Given the description of an element on the screen output the (x, y) to click on. 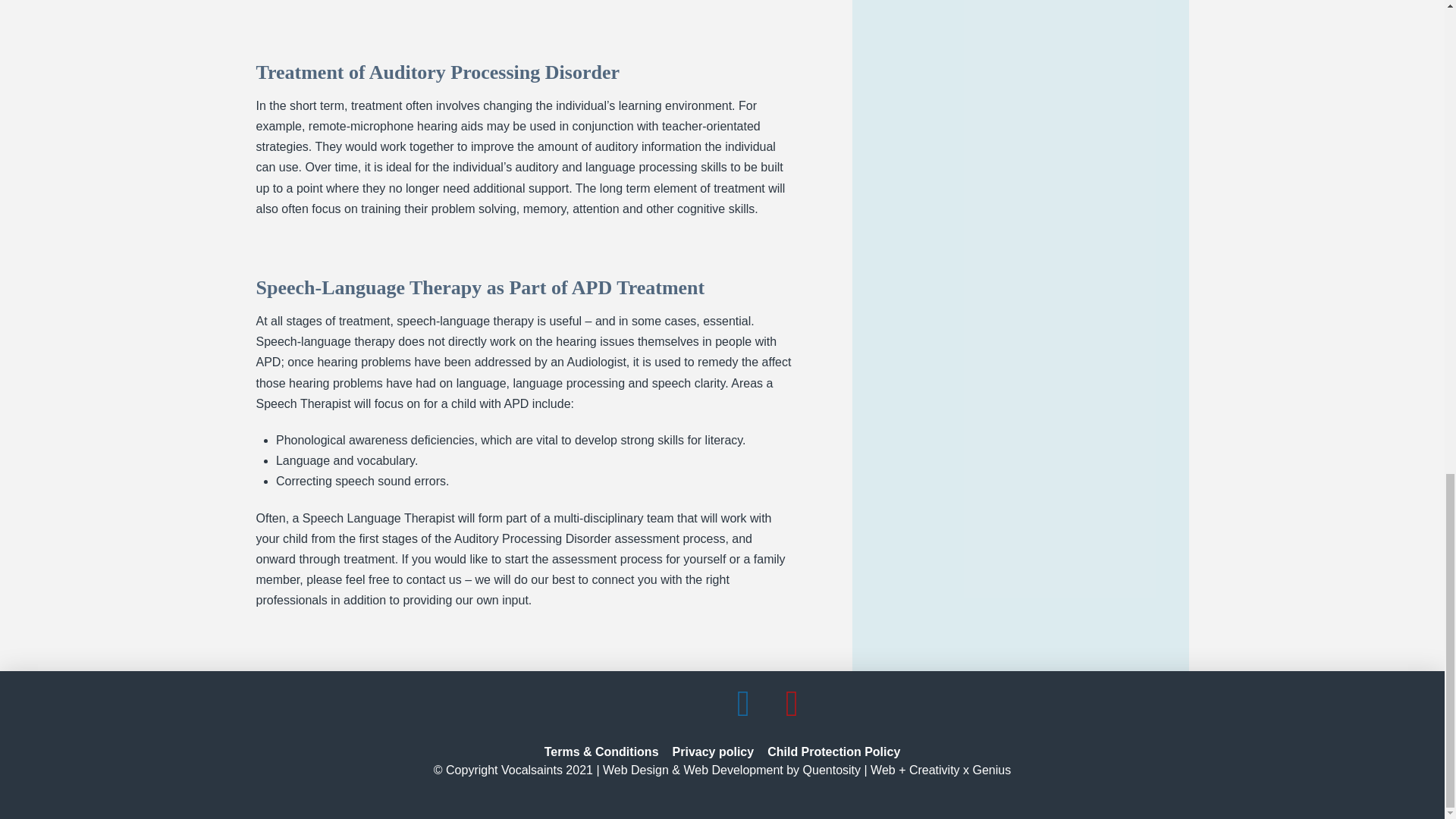
Web Development (732, 769)
Quentosity (831, 769)
Privacy policy (713, 752)
Child Protection Policy (833, 752)
Web Design (635, 769)
Web Development (732, 769)
Quentosity (831, 769)
Web Design (635, 769)
